Given the description of an element on the screen output the (x, y) to click on. 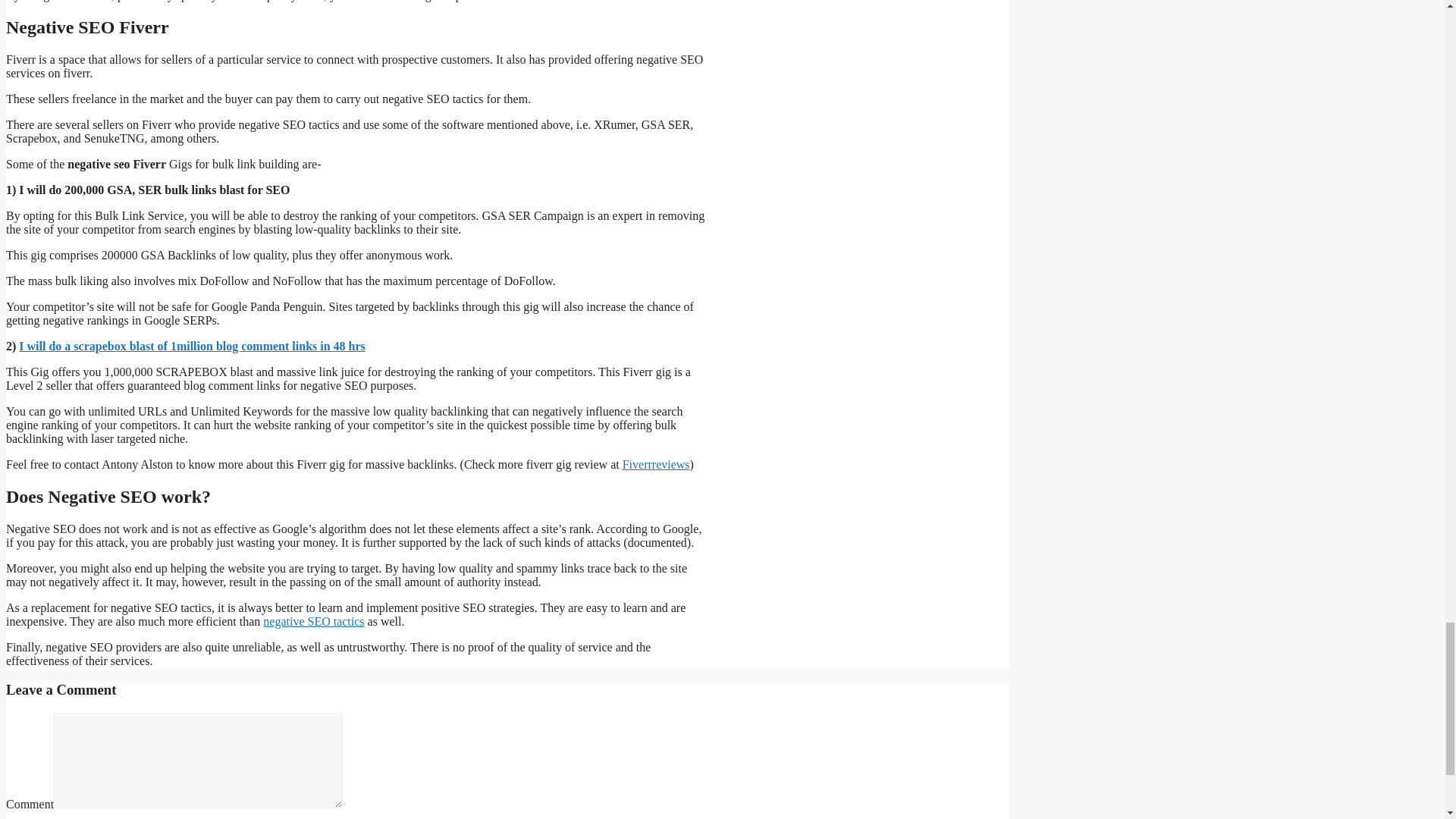
Fiverrreviews (656, 463)
negative SEO tactics (313, 621)
